Given the description of an element on the screen output the (x, y) to click on. 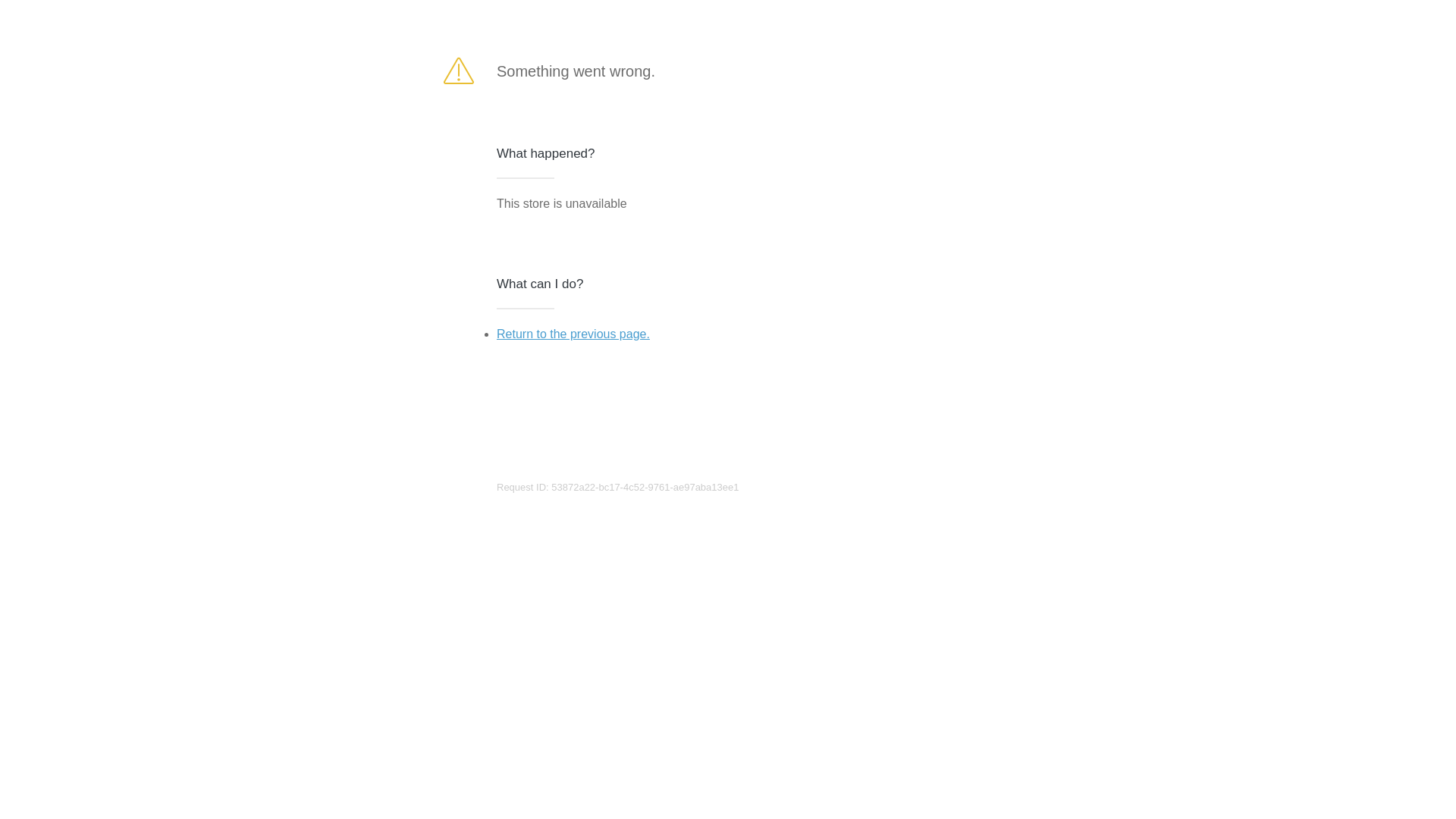
Return to the previous page. Element type: text (572, 333)
